Given the description of an element on the screen output the (x, y) to click on. 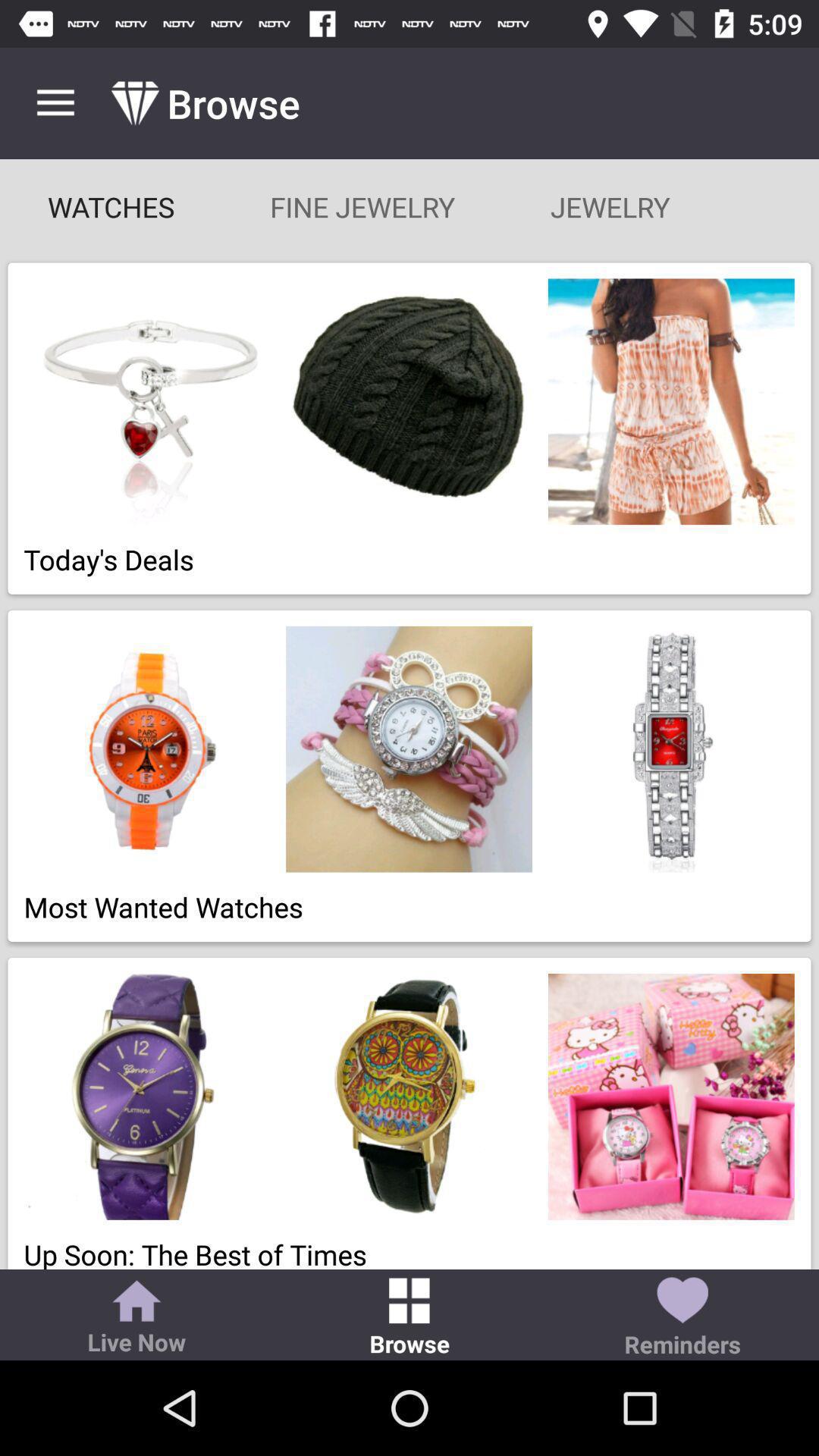
turn off icon to the right of browse (682, 1318)
